Given the description of an element on the screen output the (x, y) to click on. 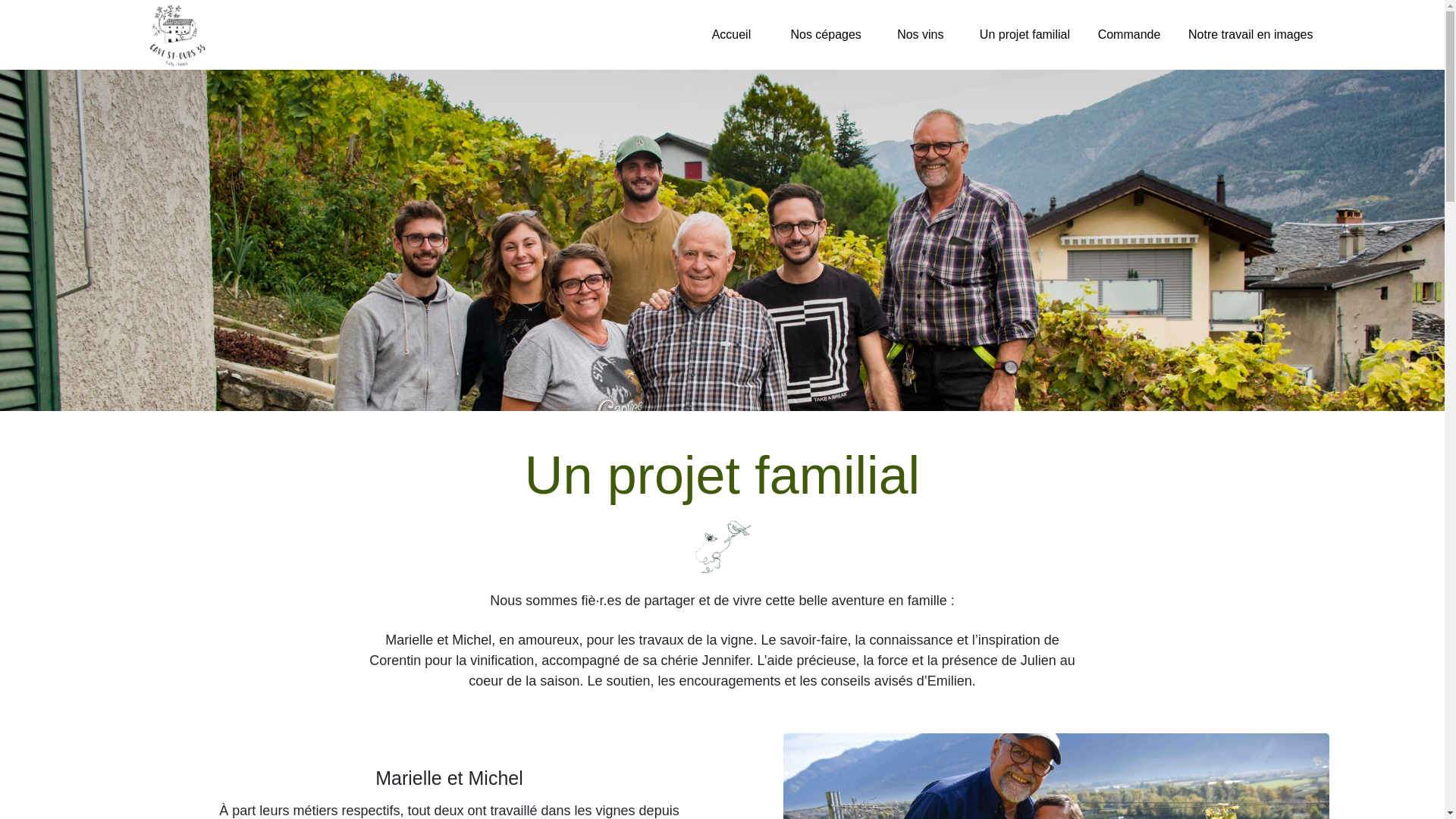
Accueil Element type: text (730, 34)
Commande Element type: text (1128, 34)
Notre travail en images Element type: text (1250, 34)
Nos vins Element type: text (920, 34)
Un projet familial Element type: text (1024, 34)
